Given the description of an element on the screen output the (x, y) to click on. 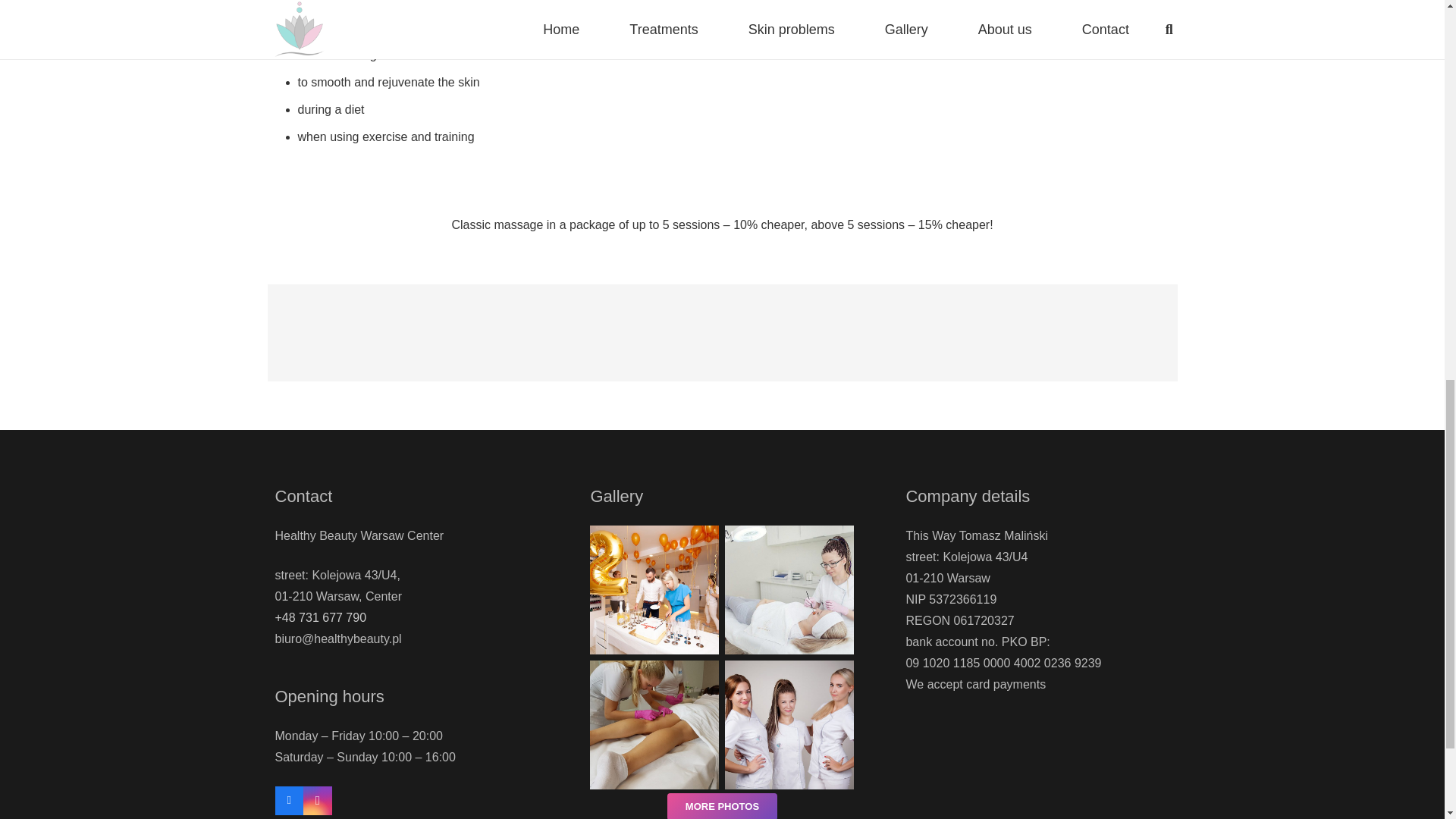
Instagram (316, 800)
6 (654, 724)
Facebook (288, 800)
59 (789, 589)
1 (789, 724)
57 (654, 589)
